Given the description of an element on the screen output the (x, y) to click on. 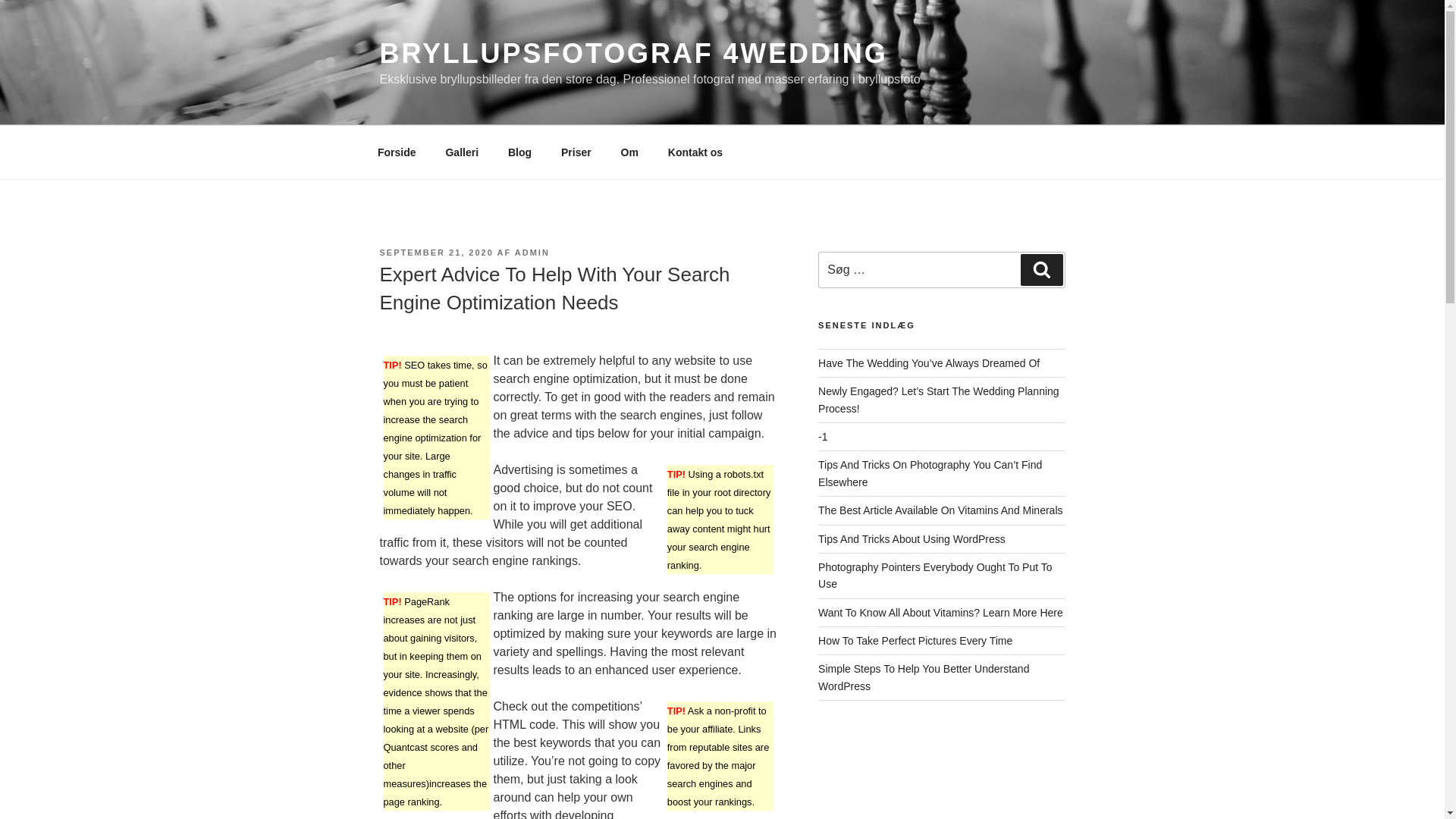
Tips And Tricks About Using WordPress (912, 538)
Galleri (462, 151)
Want To Know All About Vitamins? Learn More Here (940, 612)
Blog (519, 151)
Forside (396, 151)
Photography Pointers Everybody Ought To Put To Use (934, 575)
How To Take Perfect Pictures Every Time (914, 640)
The Best Article Available On Vitamins And Minerals (940, 510)
ADMIN (532, 252)
Om (628, 151)
